Given the description of an element on the screen output the (x, y) to click on. 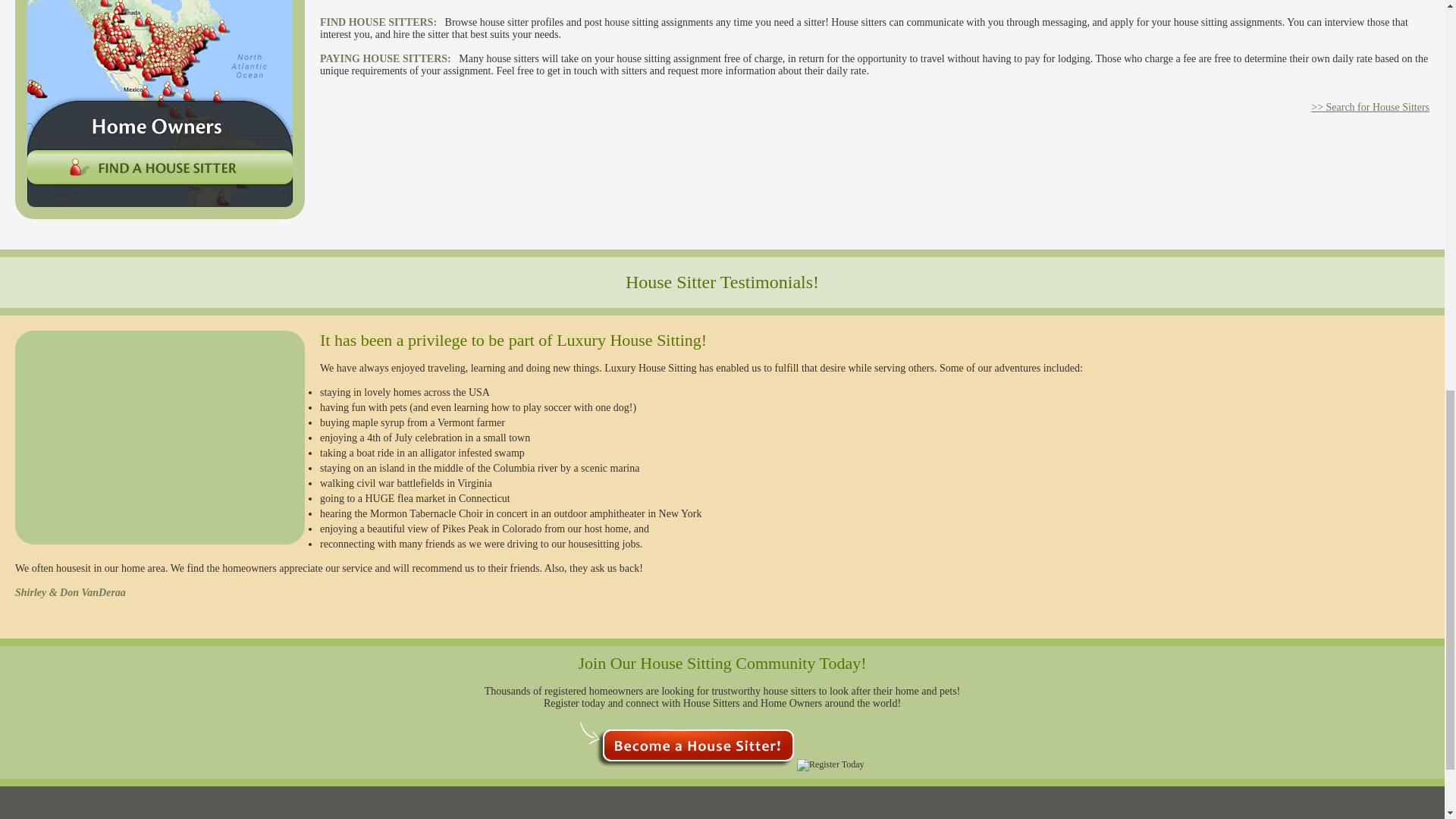
Register Today (830, 765)
Home Owners - Find a House Sitter! (159, 109)
Register Today (686, 744)
